Given the description of an element on the screen output the (x, y) to click on. 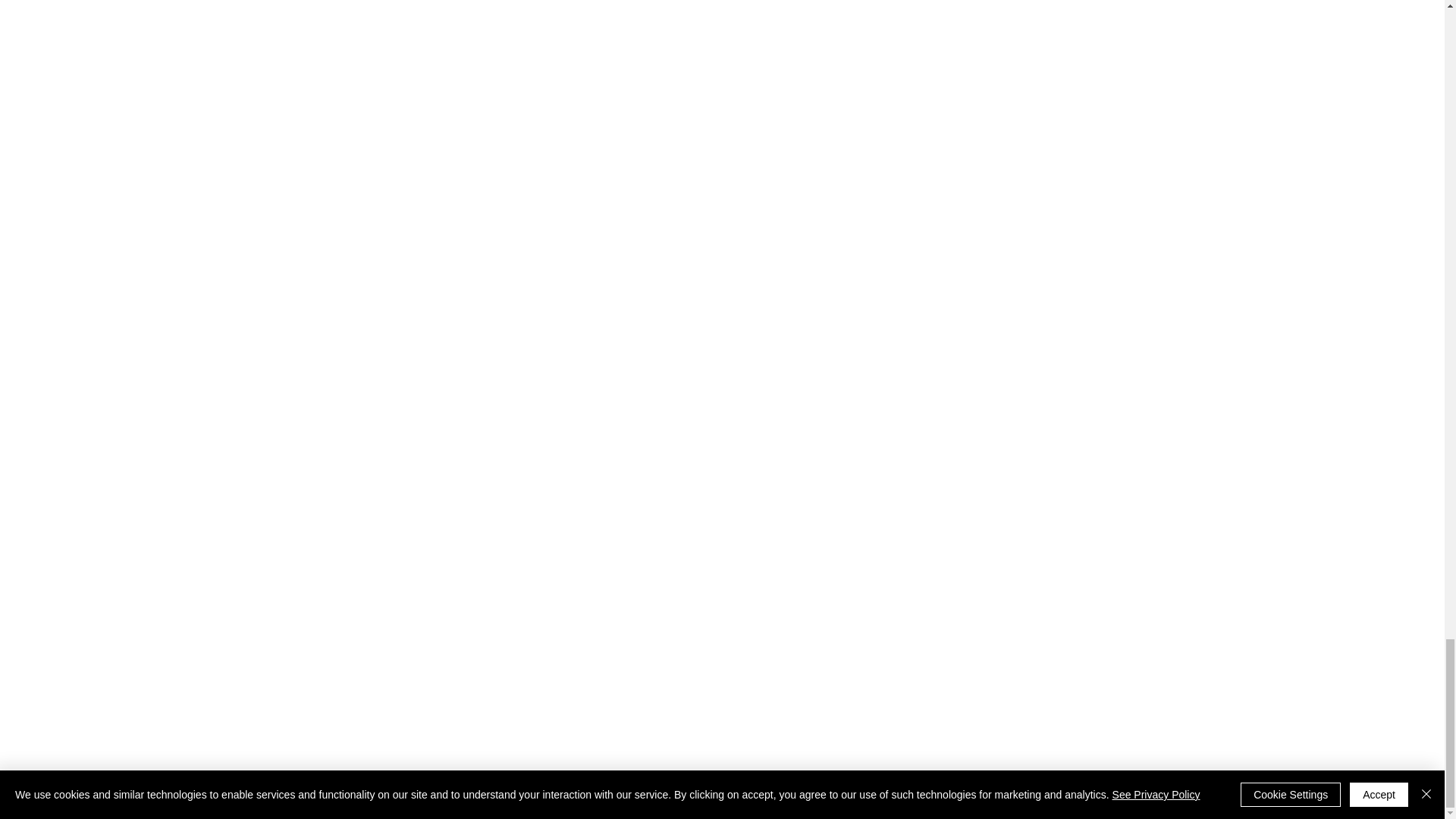
DELIVERY (411, 785)
CONTACT (943, 785)
TEAM MOUMI (855, 784)
RETURNS (490, 785)
PRIVACY POLICY (743, 785)
